Given the description of an element on the screen output the (x, y) to click on. 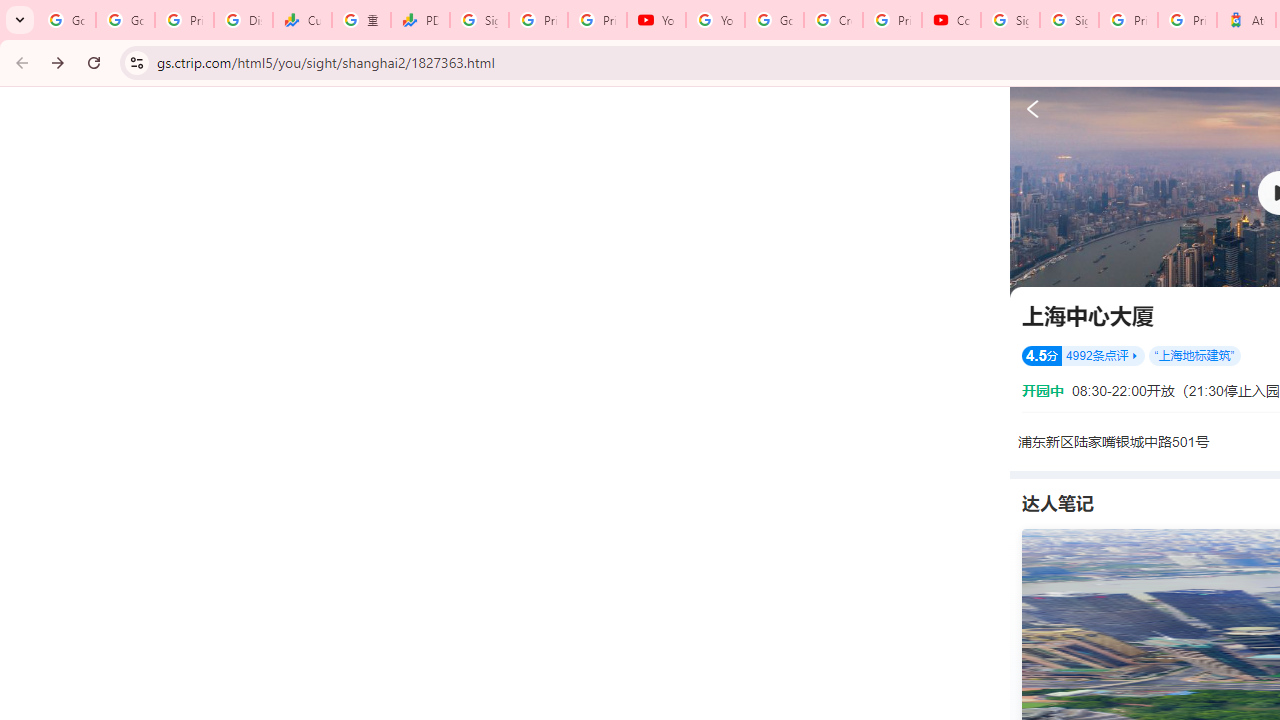
Currencies - Google Finance (301, 20)
Google Workspace Admin Community (66, 20)
Sign in - Google Accounts (1069, 20)
PDD Holdings Inc - ADR (PDD) Price & News - Google Finance (420, 20)
Content Creator Programs & Opportunities - YouTube Creators (950, 20)
